Given the description of an element on the screen output the (x, y) to click on. 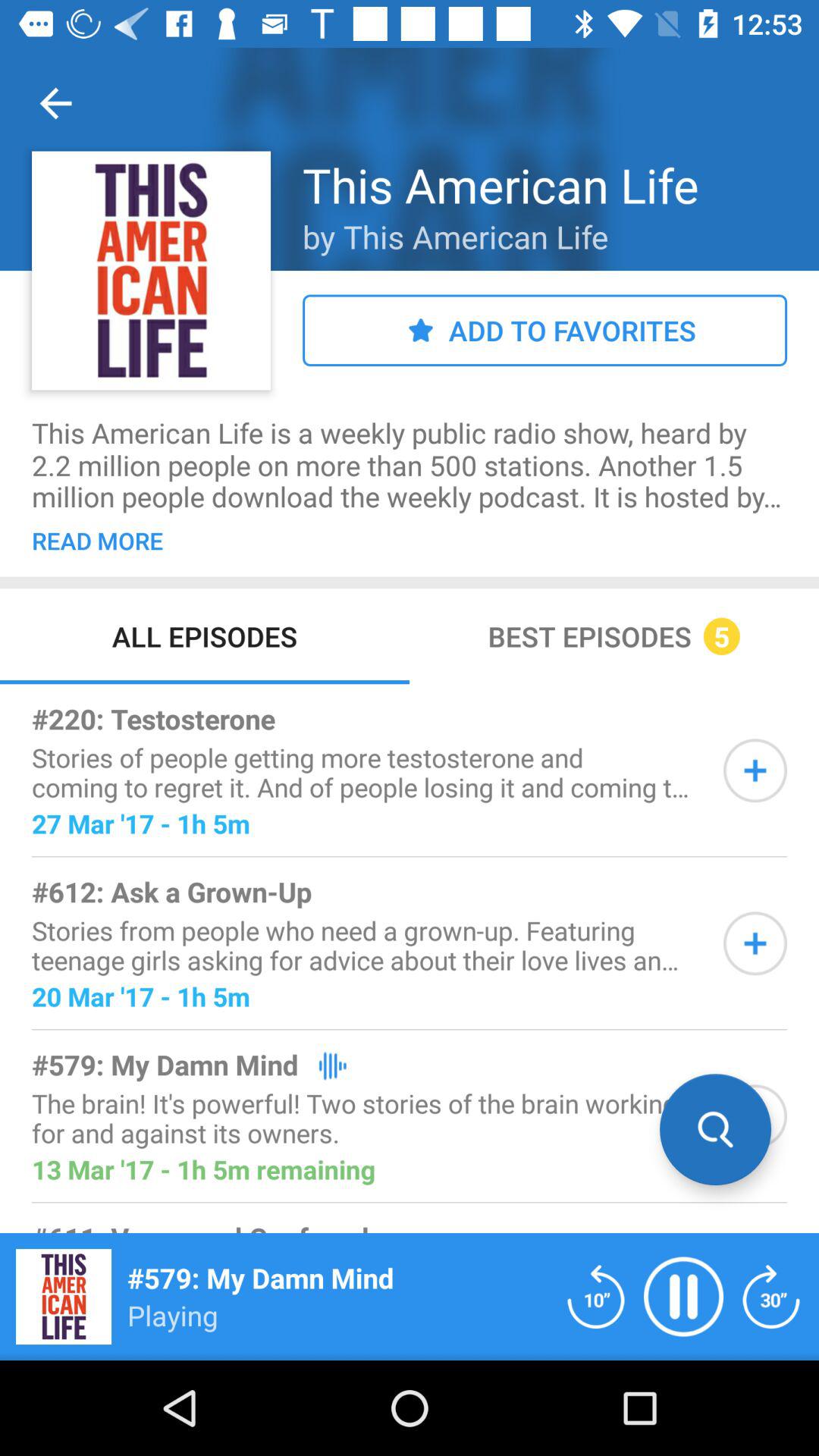
enter the search (755, 1116)
